Given the description of an element on the screen output the (x, y) to click on. 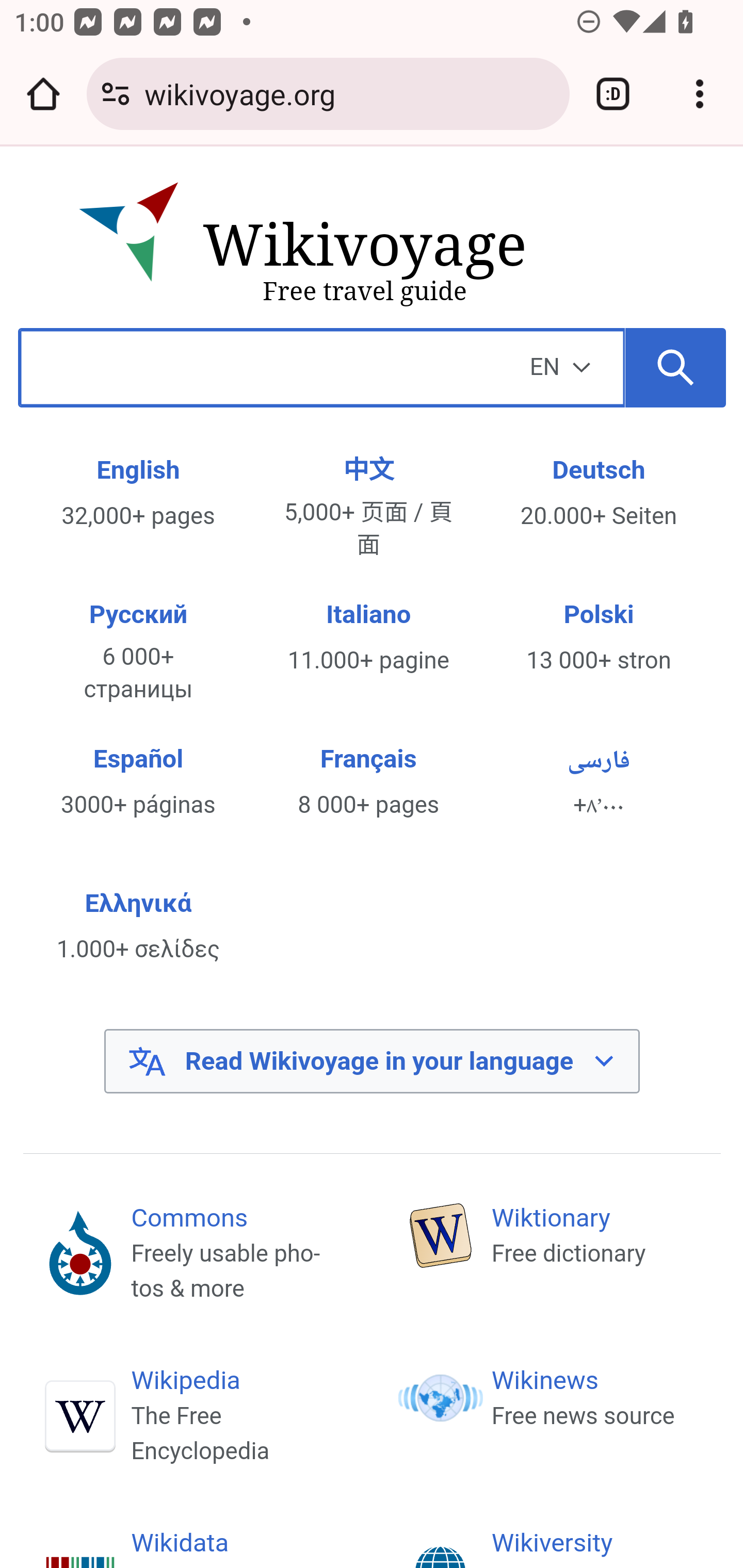
Open the home page (43, 93)
Connection is secure (115, 93)
Switch or close tabs (612, 93)
Customize and control Google Chrome (699, 93)
wikivoyage.org (349, 92)
Search (675, 366)
English 32,000+ pages English 32,000+ pages (137, 493)
中文 5,000+ 页面 / 頁面 中文 5,000+ 页面 / 頁面 (368, 507)
Deutsch 20.000+ Seiten Deutsch 20.000+ Seiten (598, 493)
Русский 6 000+ страницы Русский 6 000+ страницы (137, 651)
Italiano 11.000+ pagine Italiano 11.000+ pagine (368, 636)
Polski 13 000+ stron Polski 13 000+ stron (598, 636)
Español 3000+ páginas Español 3000+ páginas (137, 782)
Français 8 000+ pages Français 8 000+ pages (368, 782)
فارسی ۸٬۰۰۰+ فارسی ۸٬۰۰۰+ (598, 782)
Ελληνικά 1.000+ σελίδες Ελληνικά 1.000+ σελίδες (137, 926)
Read Wikivoyage in your language  (371, 1061)
